Given the description of an element on the screen output the (x, y) to click on. 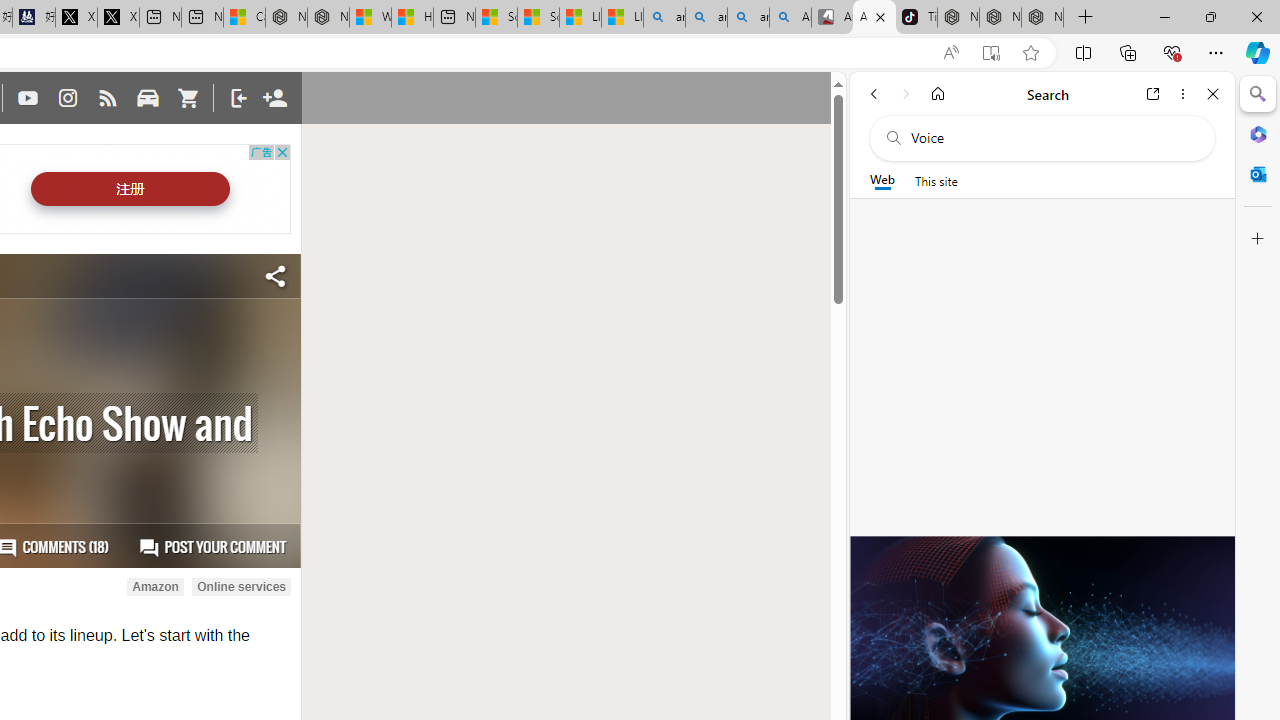
Customize (1258, 239)
Amazon (155, 587)
amazon - Search Images (748, 17)
Huge shark washes ashore at New York City beach | Watch (411, 17)
Amazon Echo Robot - Search Images (790, 17)
Forward (906, 93)
